Given the description of an element on the screen output the (x, y) to click on. 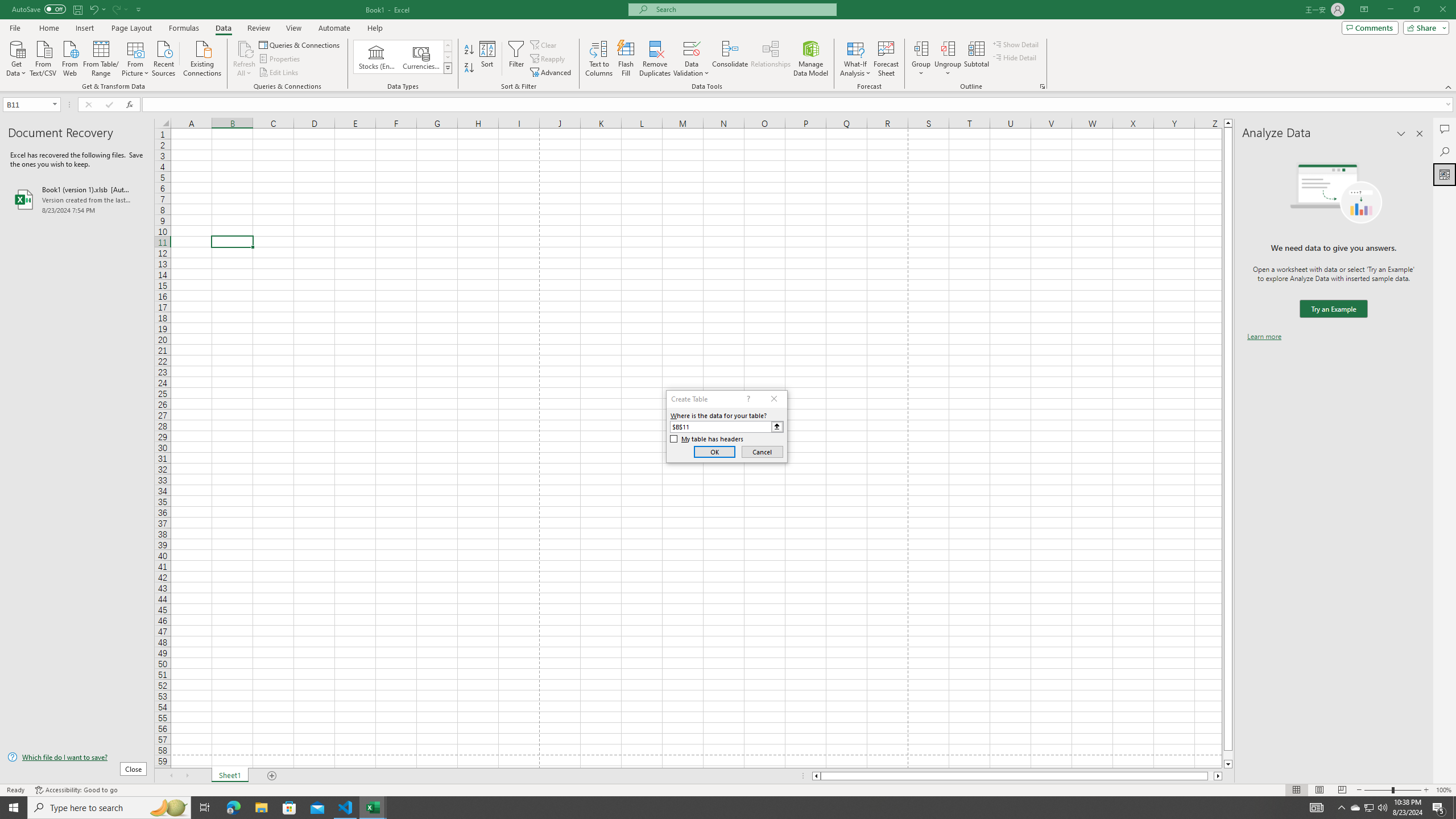
AutoSave (38, 9)
Remove Duplicates (654, 58)
Subtotal (976, 58)
Microsoft search (742, 9)
Sort Z to A (469, 67)
What-If Analysis (855, 58)
Close pane (1419, 133)
Data Types (448, 67)
Sort A to Z (469, 49)
